Given the description of an element on the screen output the (x, y) to click on. 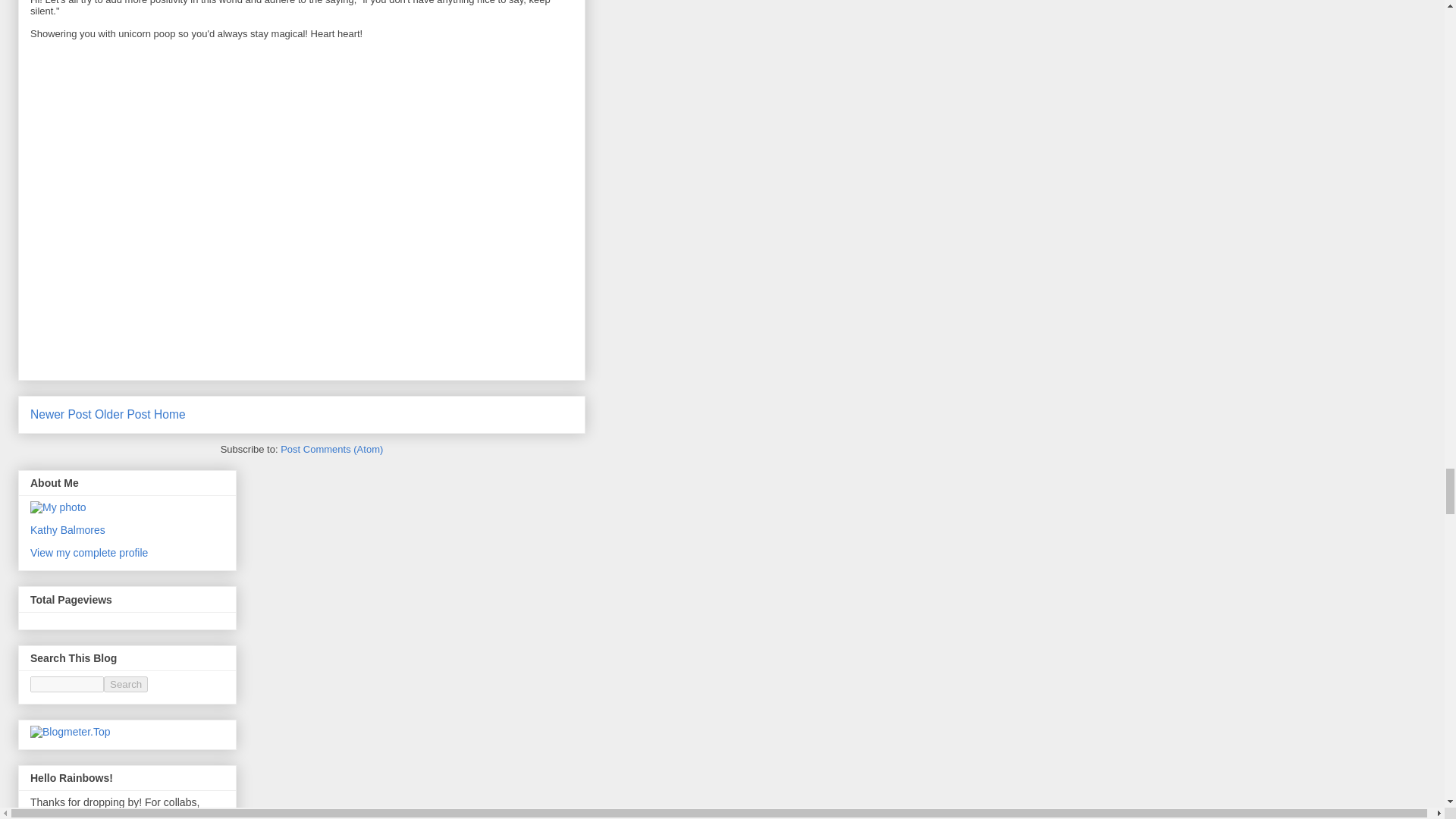
Search (125, 684)
Newer Post (60, 413)
Search (125, 684)
search (125, 684)
Older Post (122, 413)
search (66, 684)
